Given the description of an element on the screen output the (x, y) to click on. 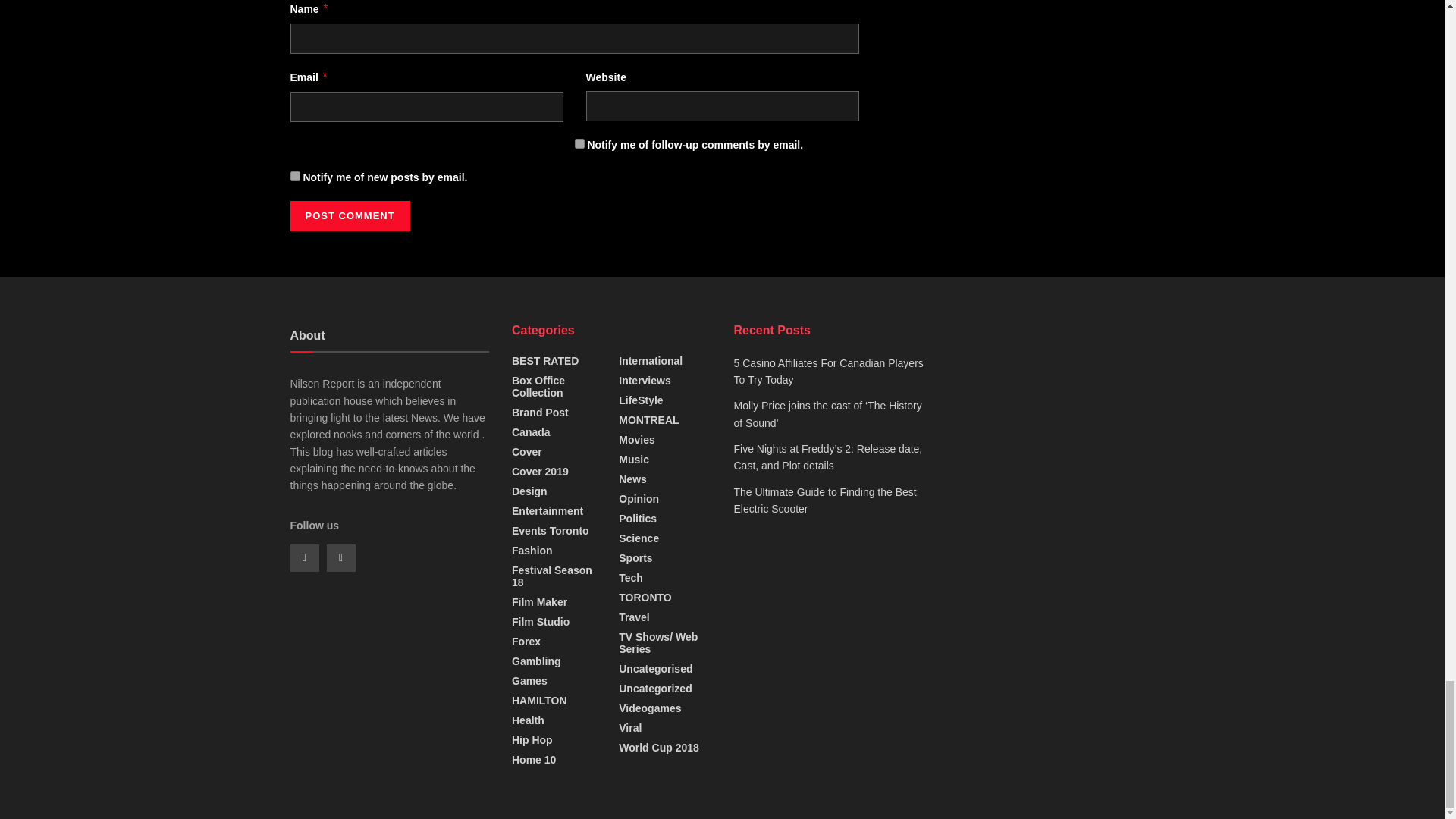
Post Comment (349, 215)
subscribe (580, 143)
subscribe (294, 175)
